Given the description of an element on the screen output the (x, y) to click on. 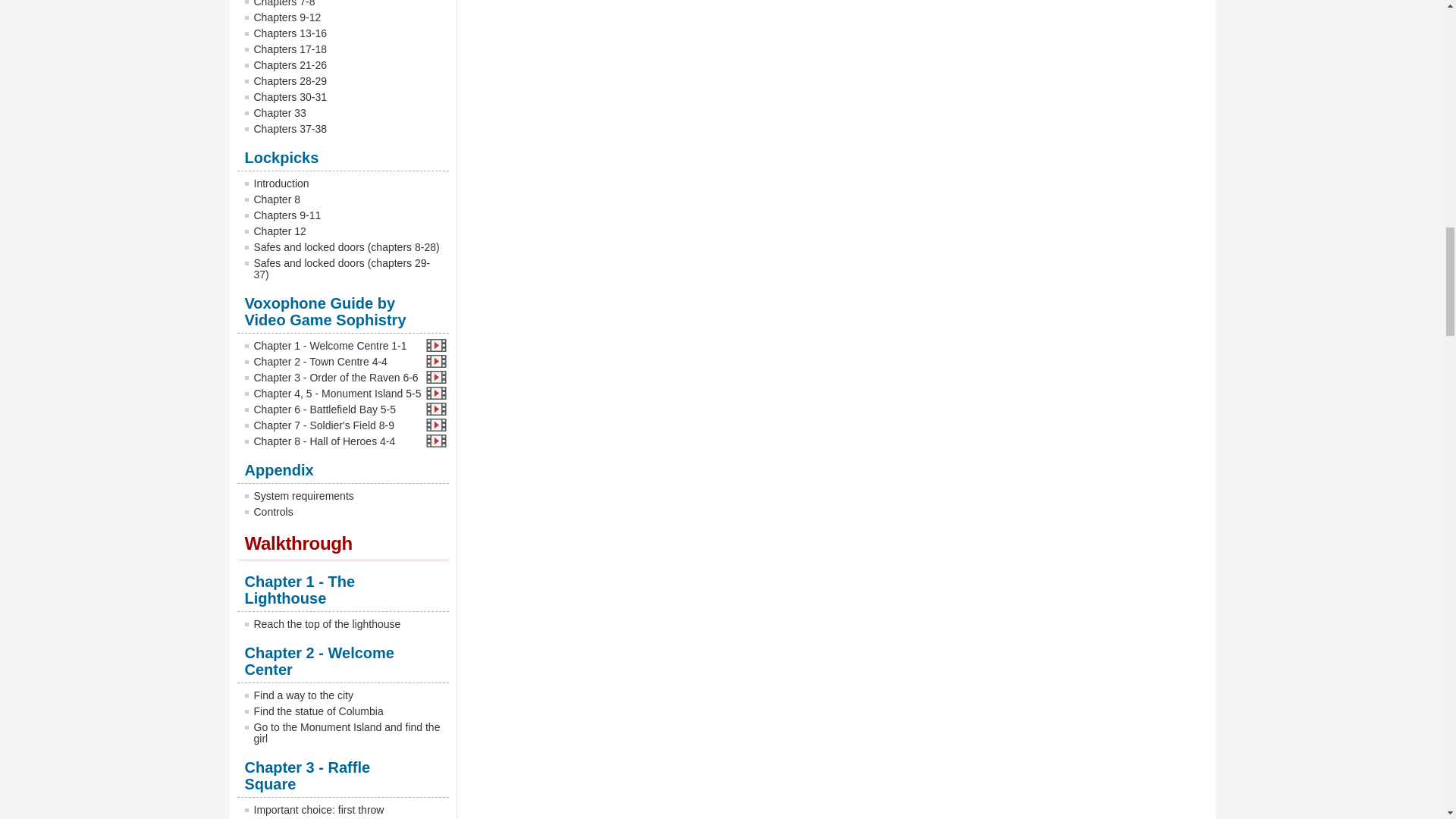
Video Guide (434, 392)
Video Guide (434, 409)
Video Guide (434, 345)
Video Guide (434, 360)
Video Guide (434, 377)
